Given the description of an element on the screen output the (x, y) to click on. 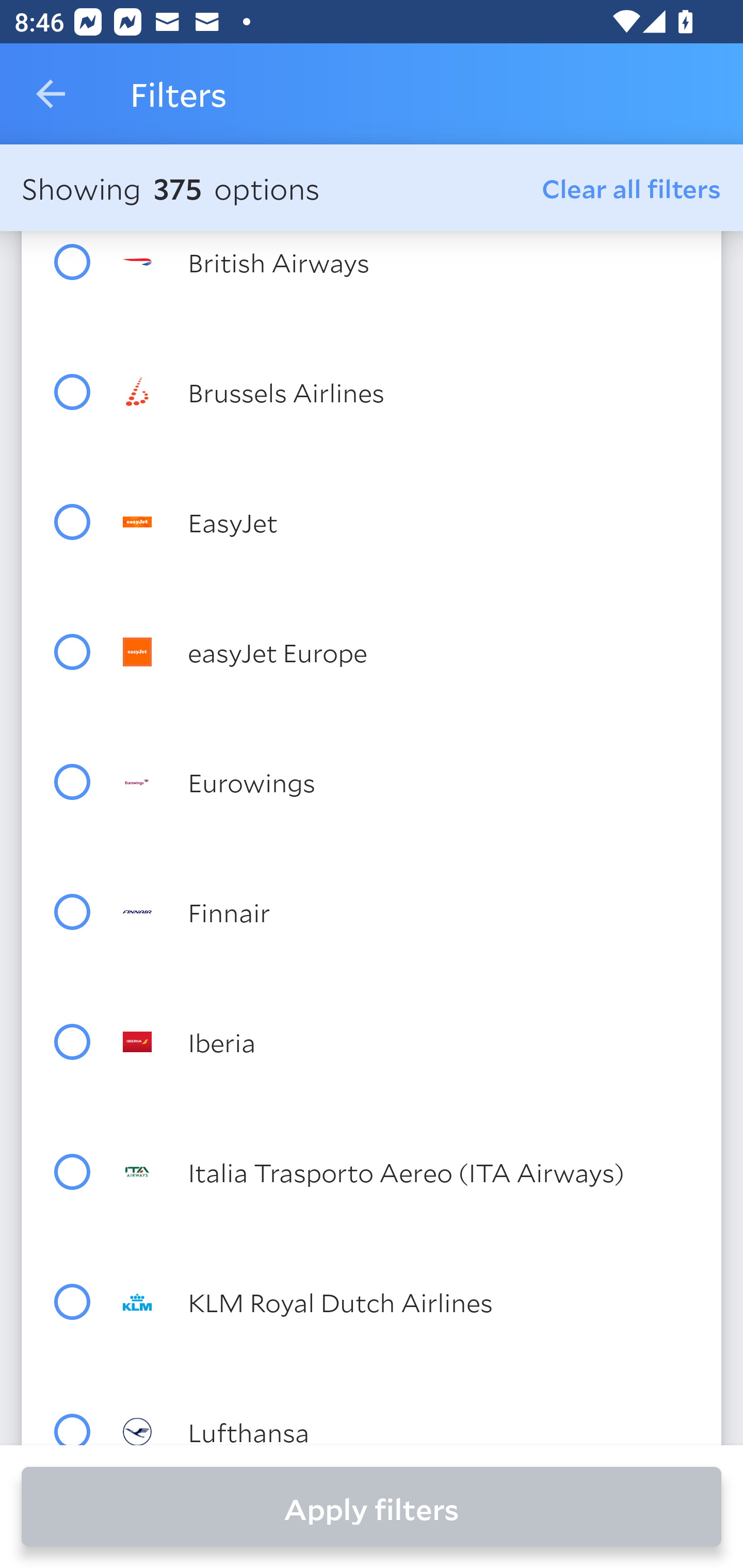
Navigate up (50, 93)
Clear all filters (631, 187)
British Airways (407, 261)
Brussels Airlines (407, 391)
EasyJet (407, 521)
easyJet Europe (407, 652)
Eurowings (407, 782)
Finnair (407, 911)
Iberia (407, 1041)
Italia Trasporto Aereo (ITA Airways) (407, 1171)
KLM Royal Dutch Airlines (407, 1301)
Lufthansa (407, 1429)
Apply filters (371, 1506)
